Given the description of an element on the screen output the (x, y) to click on. 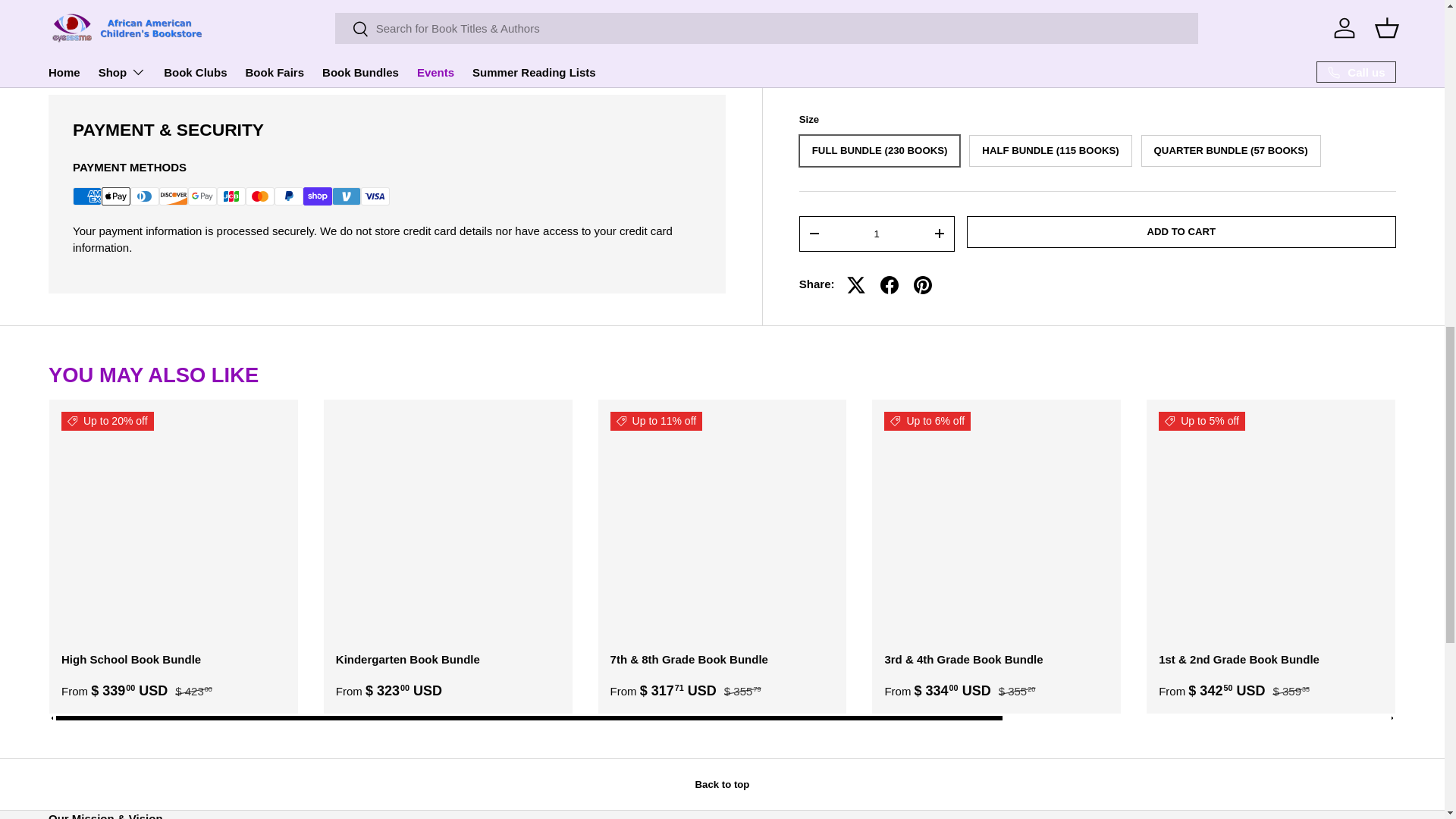
Apple Pay (116, 196)
American Express (86, 196)
Diners Club (144, 196)
Discover (172, 196)
